Given the description of an element on the screen output the (x, y) to click on. 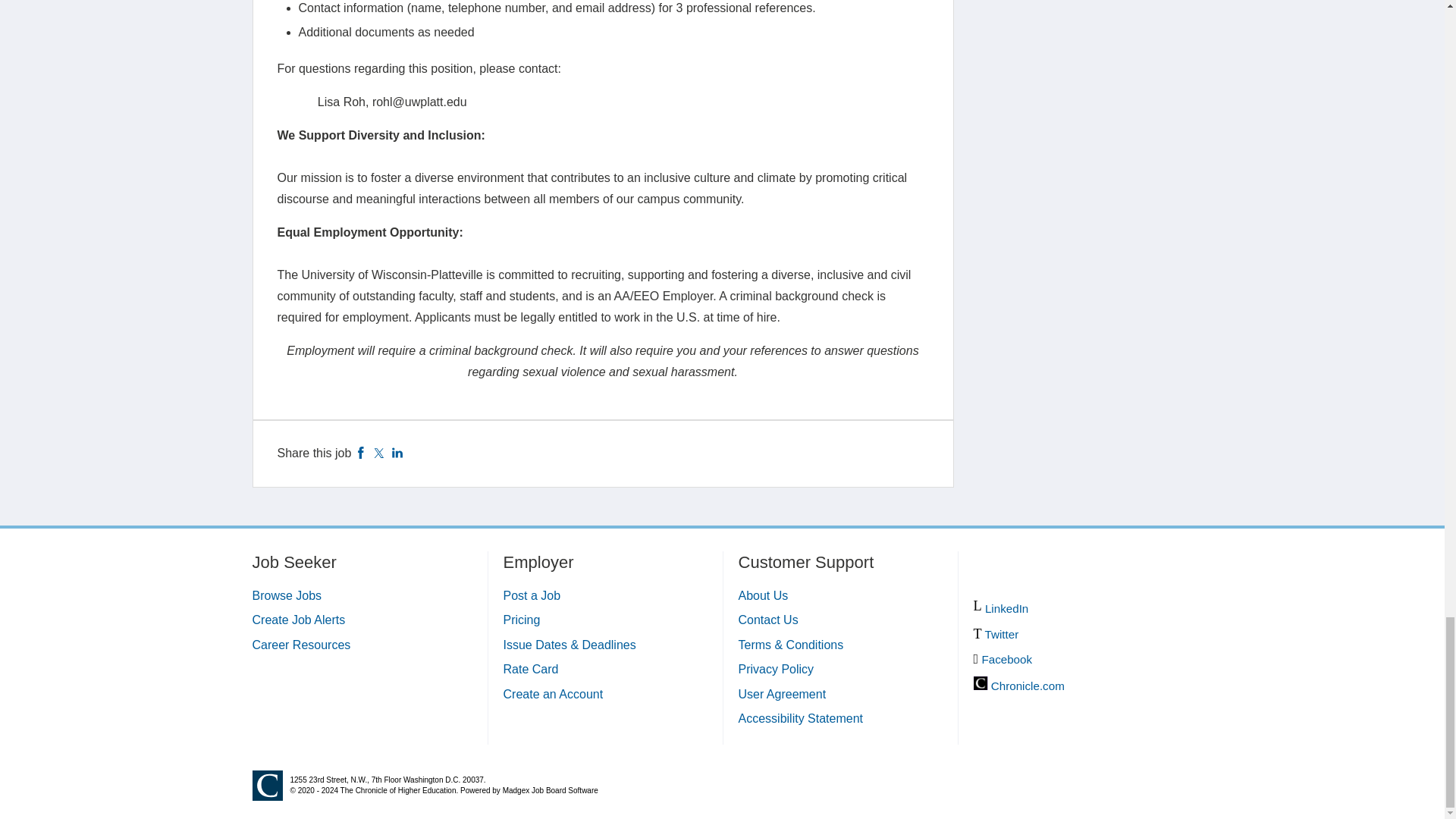
LinkedIn (397, 452)
Twitter (378, 452)
Facebook (360, 452)
